Given the description of an element on the screen output the (x, y) to click on. 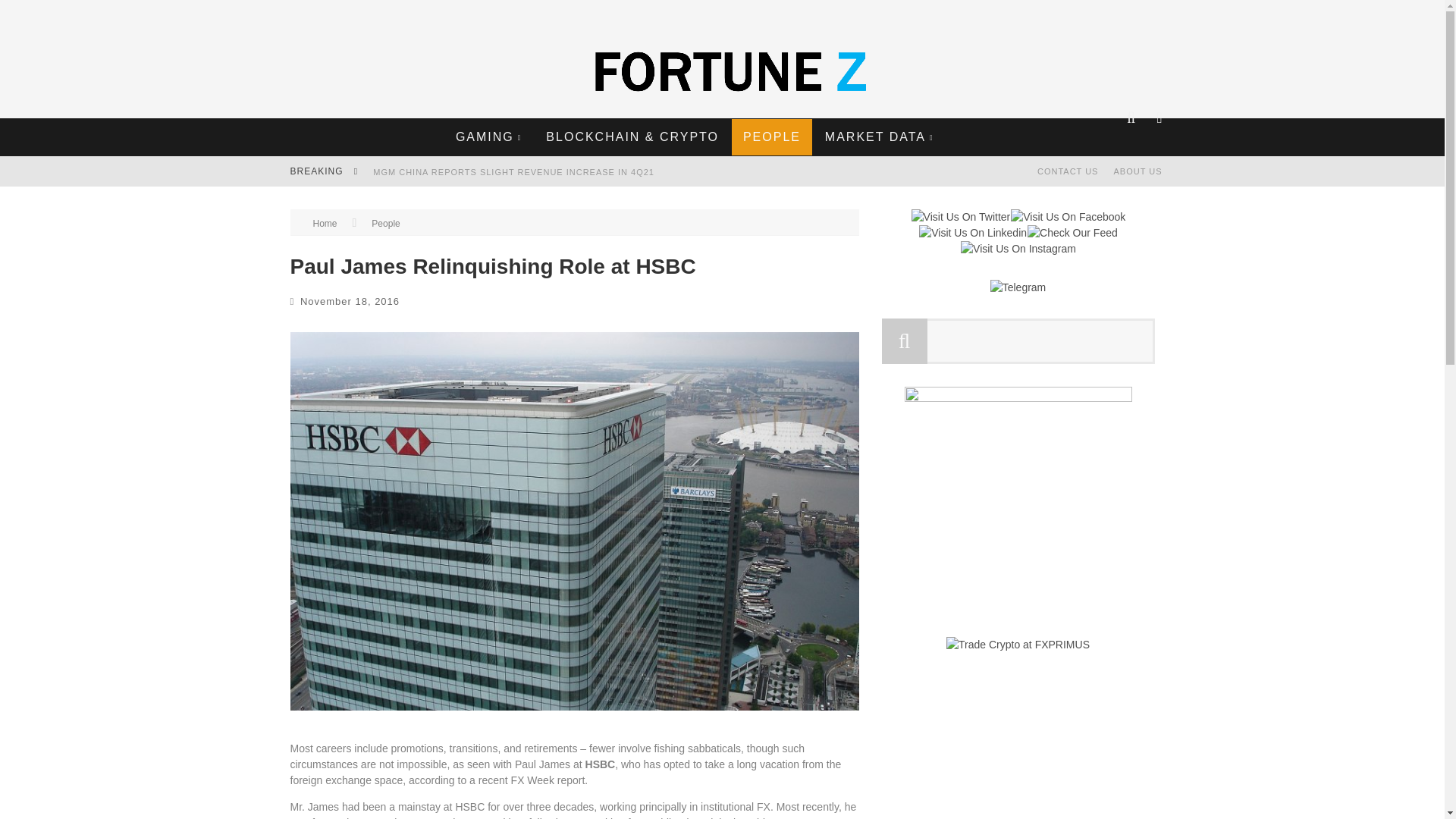
Visit Us On Linkedin (972, 232)
MGM China Reports Slight Revenue Increase In 4Q21 (512, 171)
PEOPLE (772, 136)
View all posts in People (384, 223)
Log In (721, 463)
Visit Us On Facebook (1067, 216)
Visit Us On Instagram (1017, 248)
Visit Us On Twitter (960, 216)
GAMING (489, 136)
Check Our Feed (1072, 232)
